Given the description of an element on the screen output the (x, y) to click on. 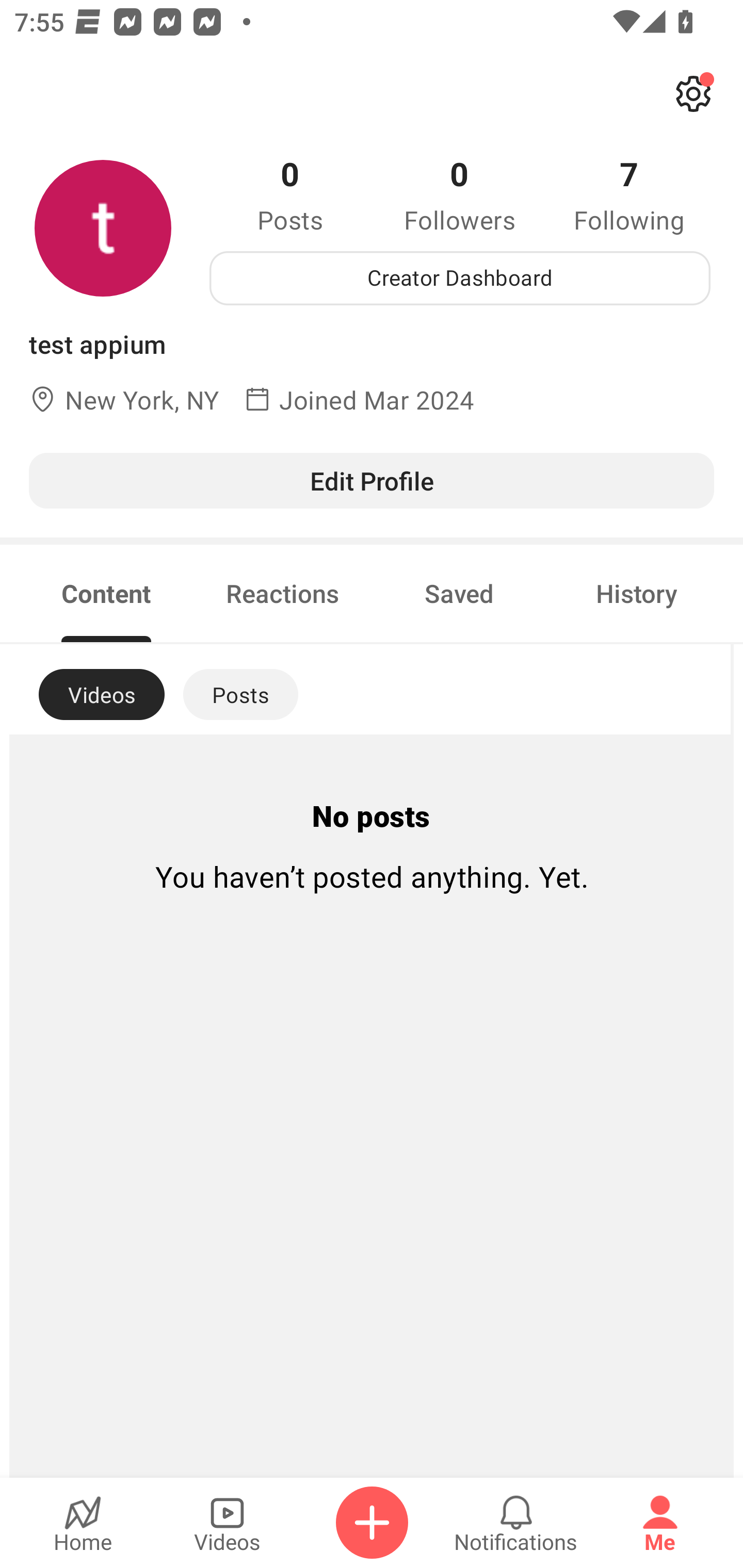
0 Followers (459, 194)
7 Following (629, 194)
Creator Dashboard (459, 277)
Edit Profile (371, 480)
Reactions (282, 593)
Saved (459, 593)
History (636, 593)
Posts (240, 694)
Home (83, 1522)
Videos (227, 1522)
Notifications (516, 1522)
